Given the description of an element on the screen output the (x, y) to click on. 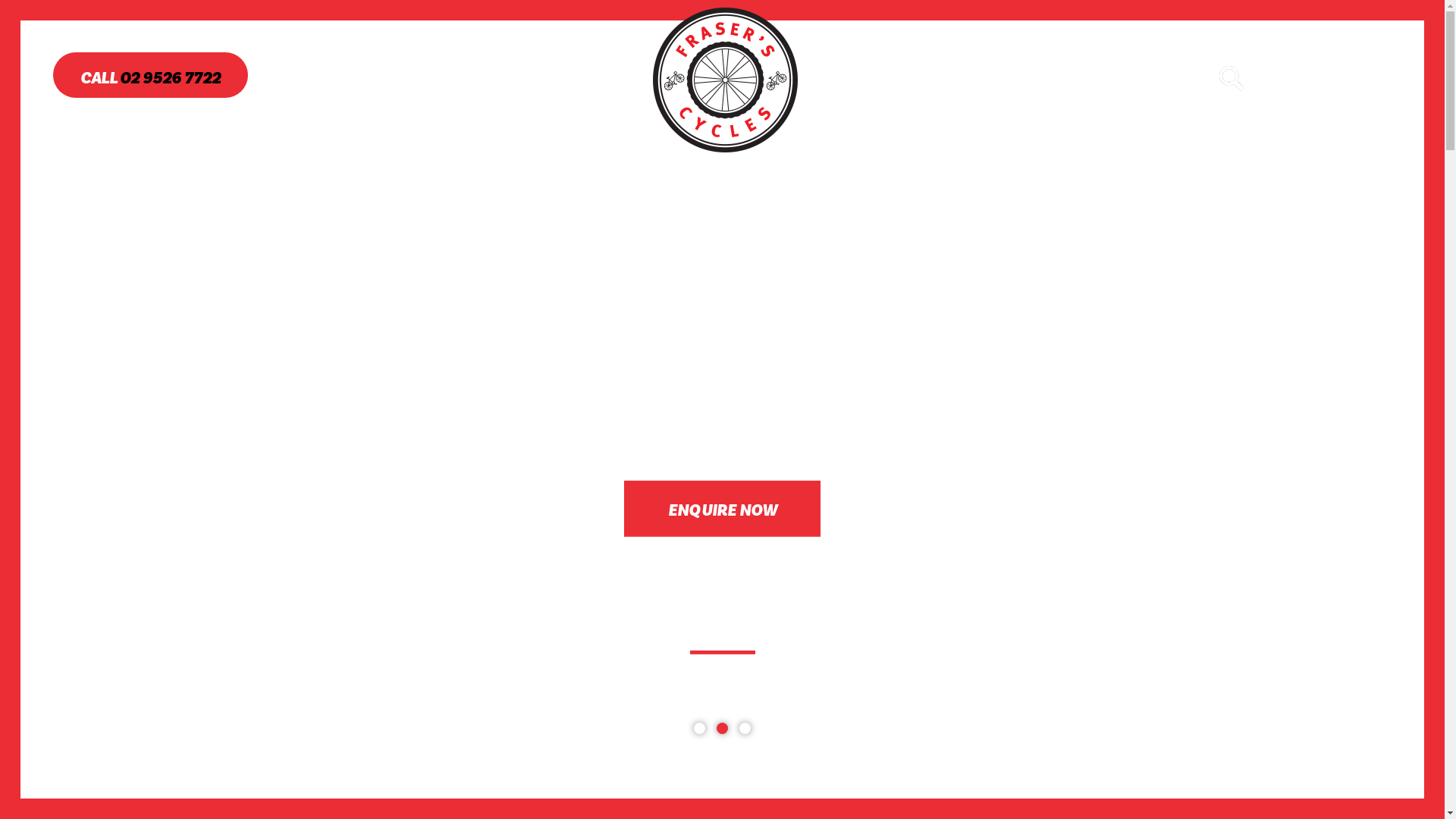
SERVICES Element type: text (880, 79)
ABOUT US Element type: text (482, 79)
FOX Youth Sale! Element type: text (744, 728)
Home Element type: hover (726, 79)
BIKES Element type: text (394, 79)
BOOK A SERVICE Element type: text (998, 79)
TREK Black Friday Sale NOW ON! Element type: text (699, 728)
Trek Roscoe 7 $2,599 to $1,699! Element type: text (722, 728)
HOME Element type: text (317, 79)
ENQUIRE NOW Element type: text (722, 508)
CONTACT Element type: text (1117, 79)
CALL 02 9526 7722 Element type: text (150, 74)
BRANDS Element type: text (577, 79)
